Given the description of an element on the screen output the (x, y) to click on. 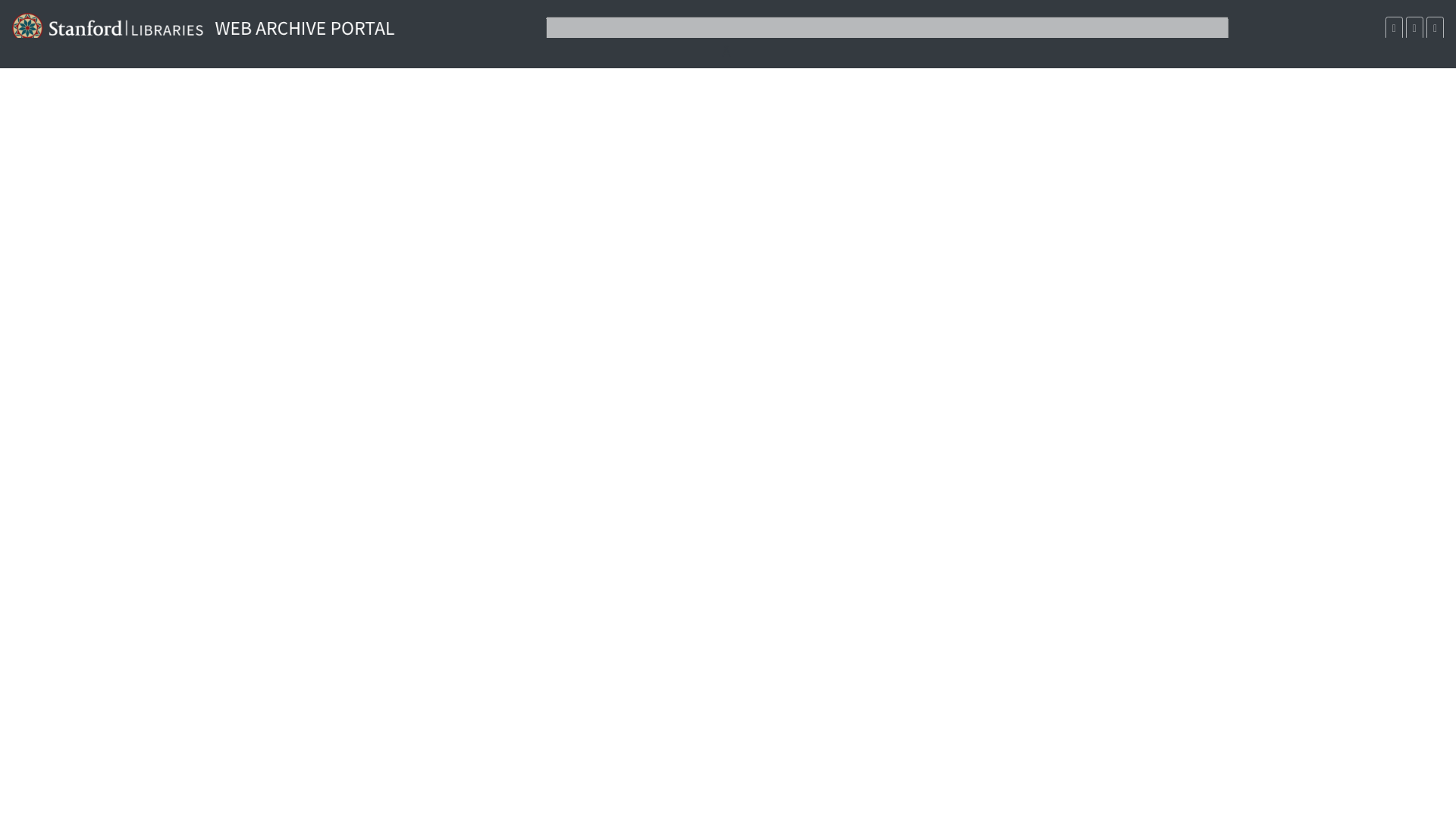
Print (1435, 28)
Show calendar (1394, 28)
Show timeline (1414, 28)
